Given the description of an element on the screen output the (x, y) to click on. 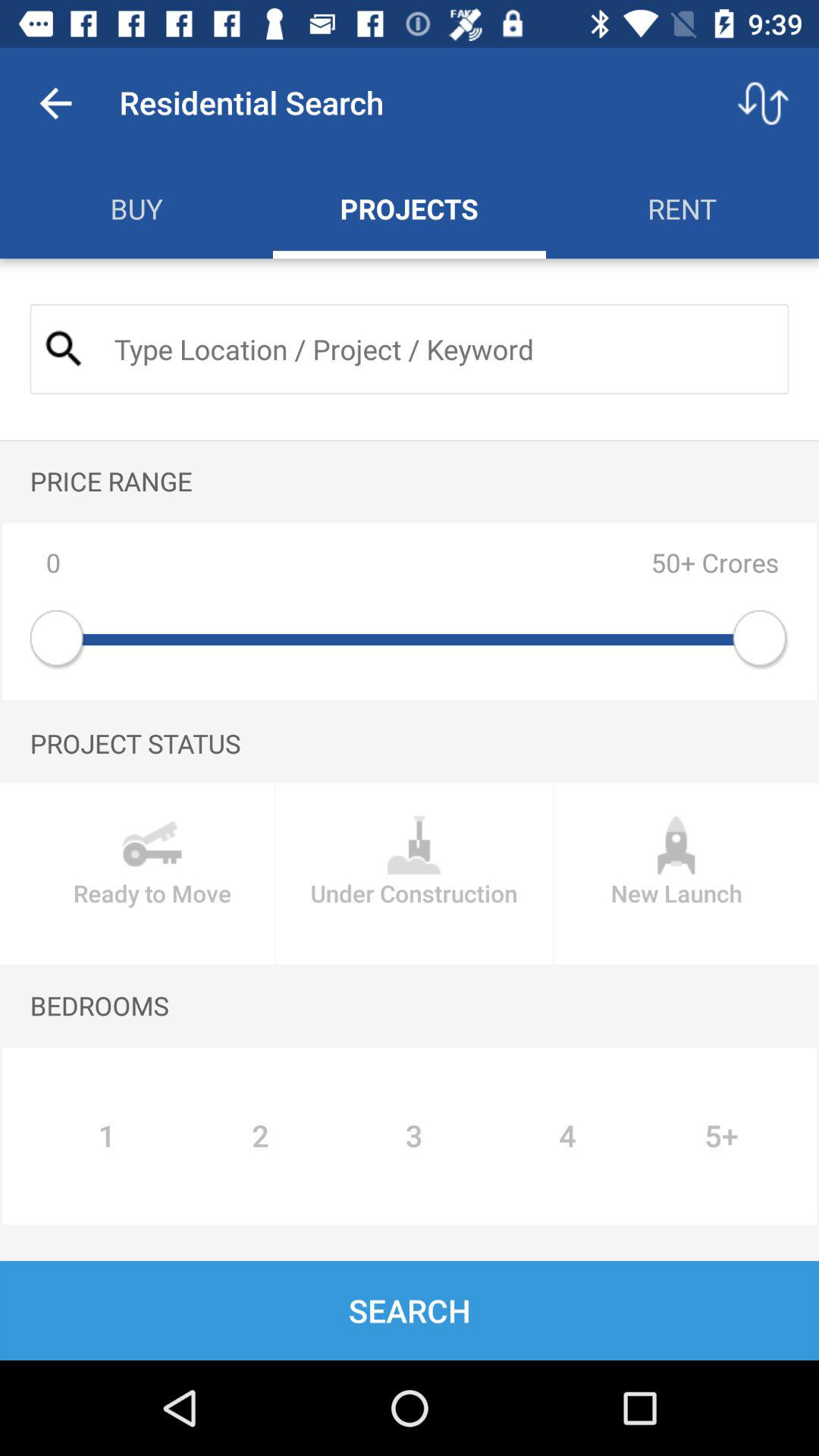
turn off item above the bedrooms icon (413, 873)
